Given the description of an element on the screen output the (x, y) to click on. 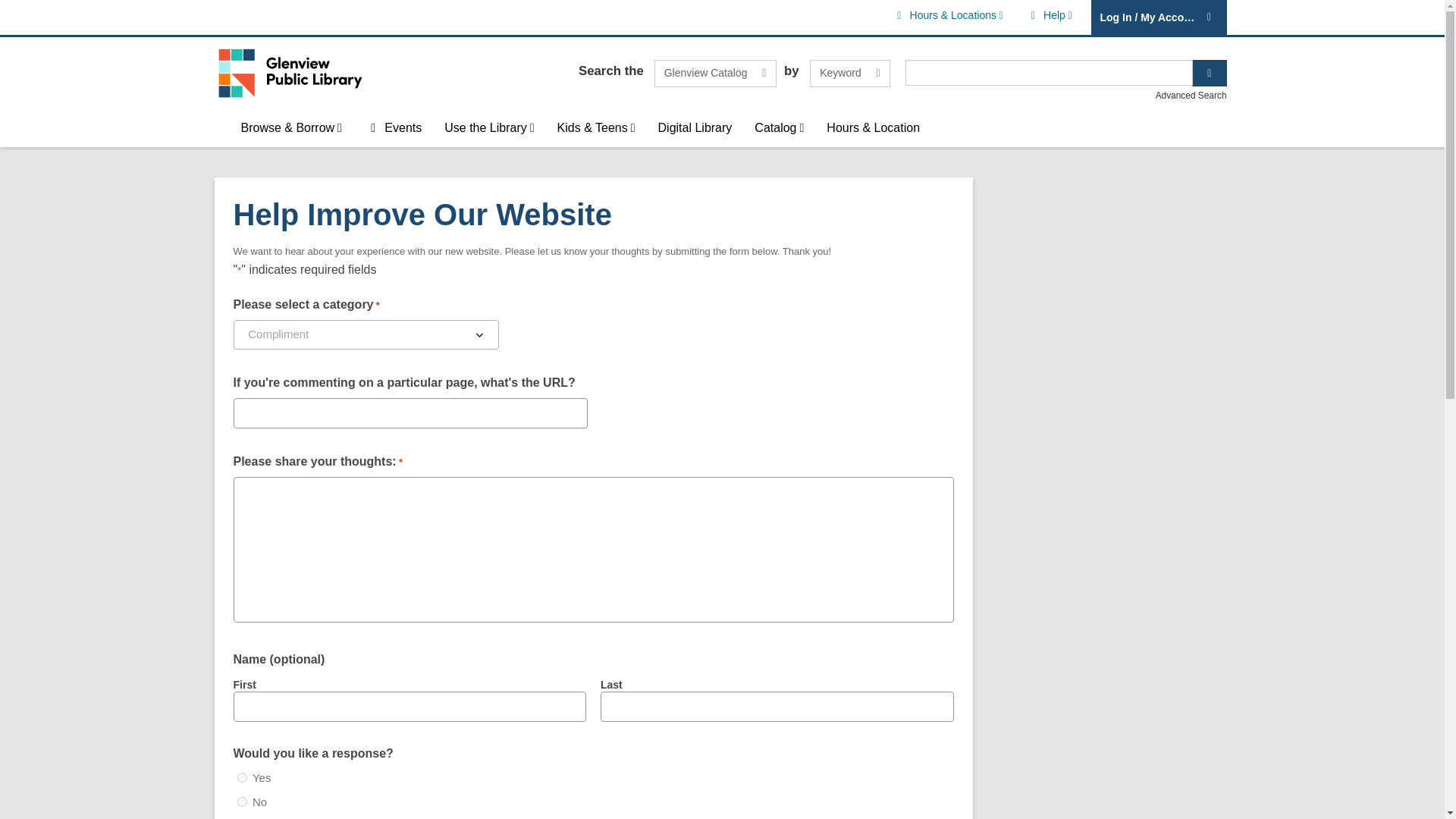
Yes (714, 72)
Glenview Catalog (240, 777)
No (1048, 15)
Keyword (714, 72)
